Given the description of an element on the screen output the (x, y) to click on. 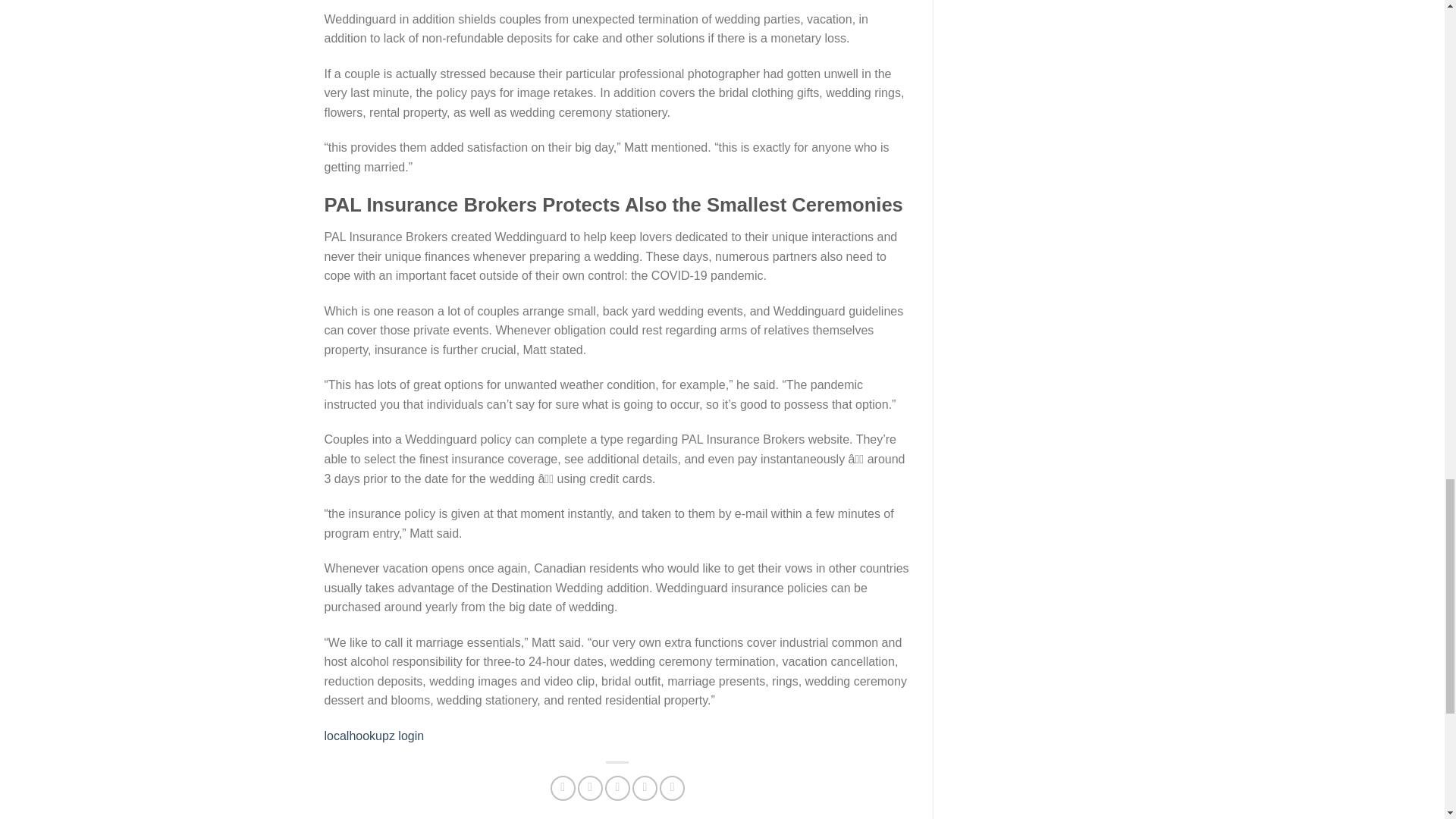
Share on Facebook (562, 787)
Email to a Friend (617, 787)
Pin on Pinterest (644, 787)
Share on Twitter (590, 787)
Share on LinkedIn (671, 787)
localhookupz login (374, 735)
